Given the description of an element on the screen output the (x, y) to click on. 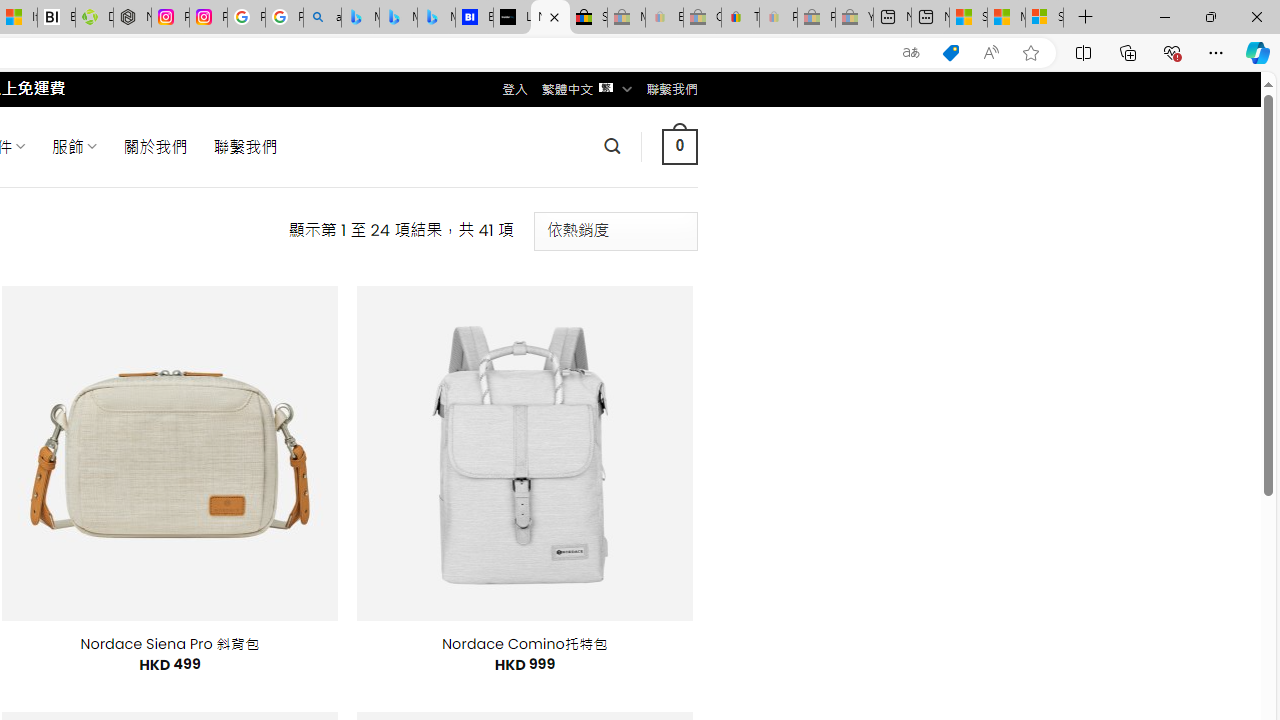
  0   (679, 146)
Microsoft Bing Travel - Shangri-La Hotel Bangkok (436, 17)
